Given the description of an element on the screen output the (x, y) to click on. 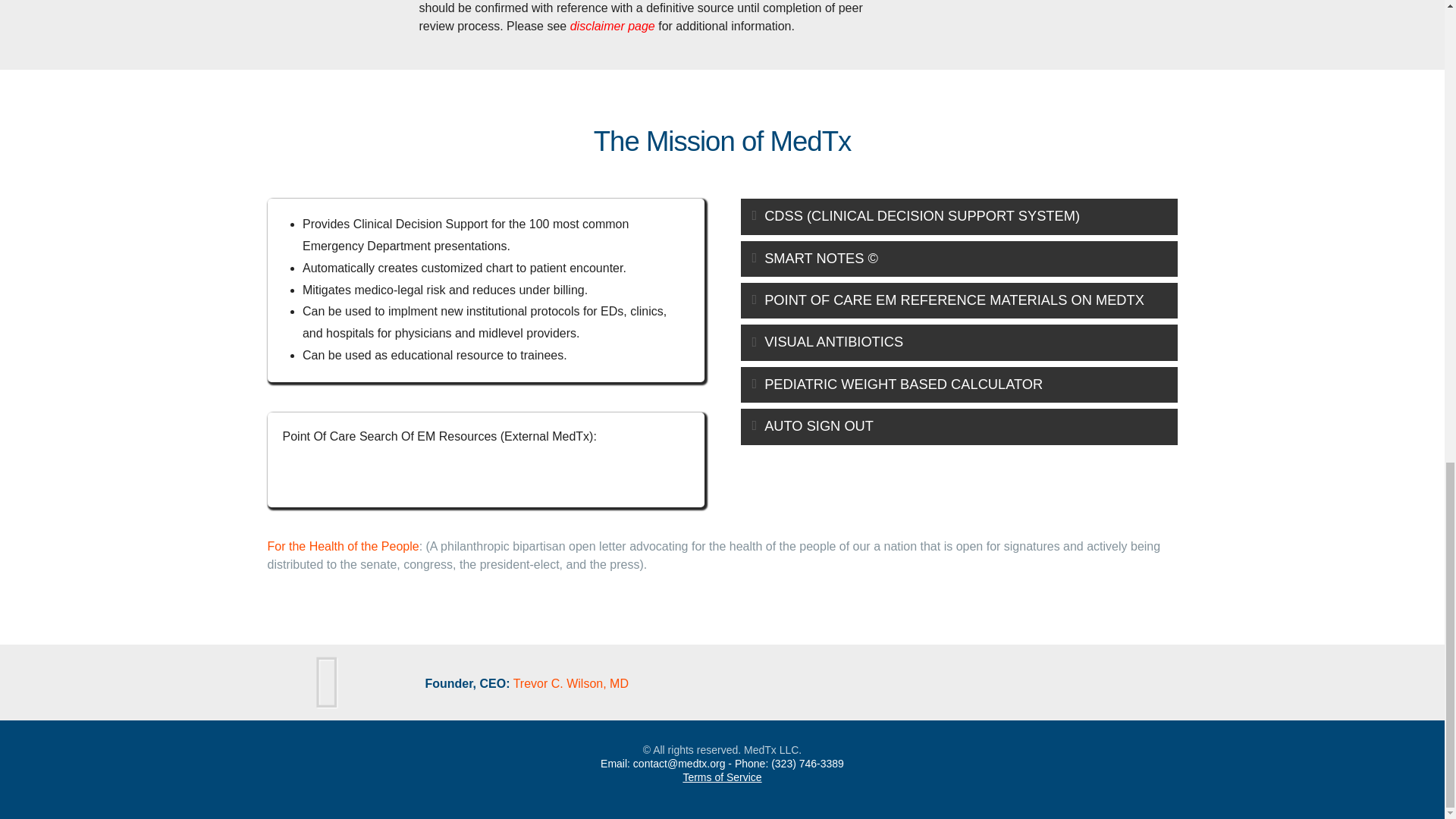
The Mission of MedTx (722, 141)
POINT OF CARE EM REFERENCE MATERIALS ON MEDTX (957, 300)
VISUAL ANTIBIOTICS (957, 342)
